Given the description of an element on the screen output the (x, y) to click on. 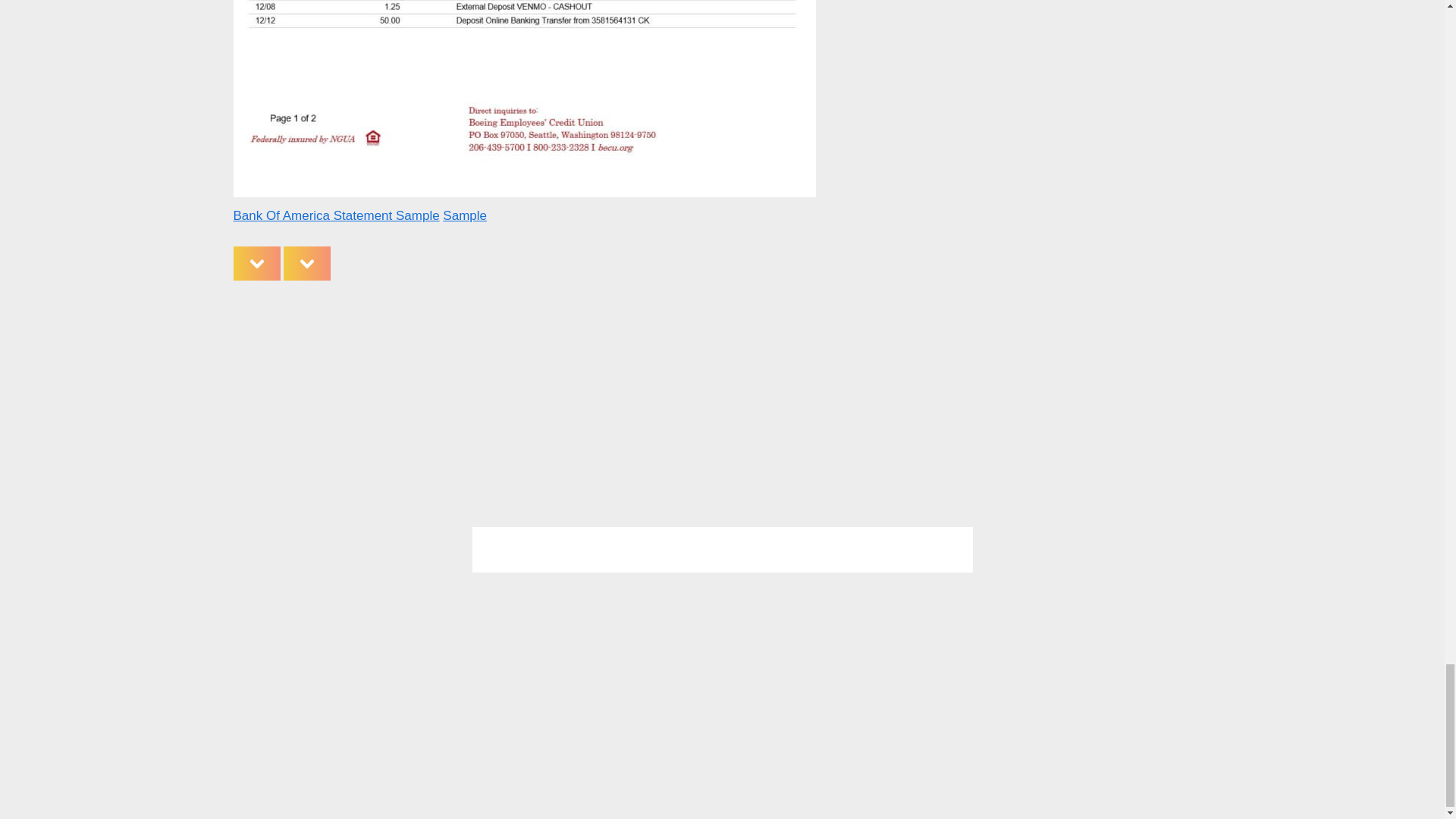
prev (256, 263)
Bank Of America Statement Sample (335, 215)
next (306, 263)
Sample (464, 215)
